Given the description of an element on the screen output the (x, y) to click on. 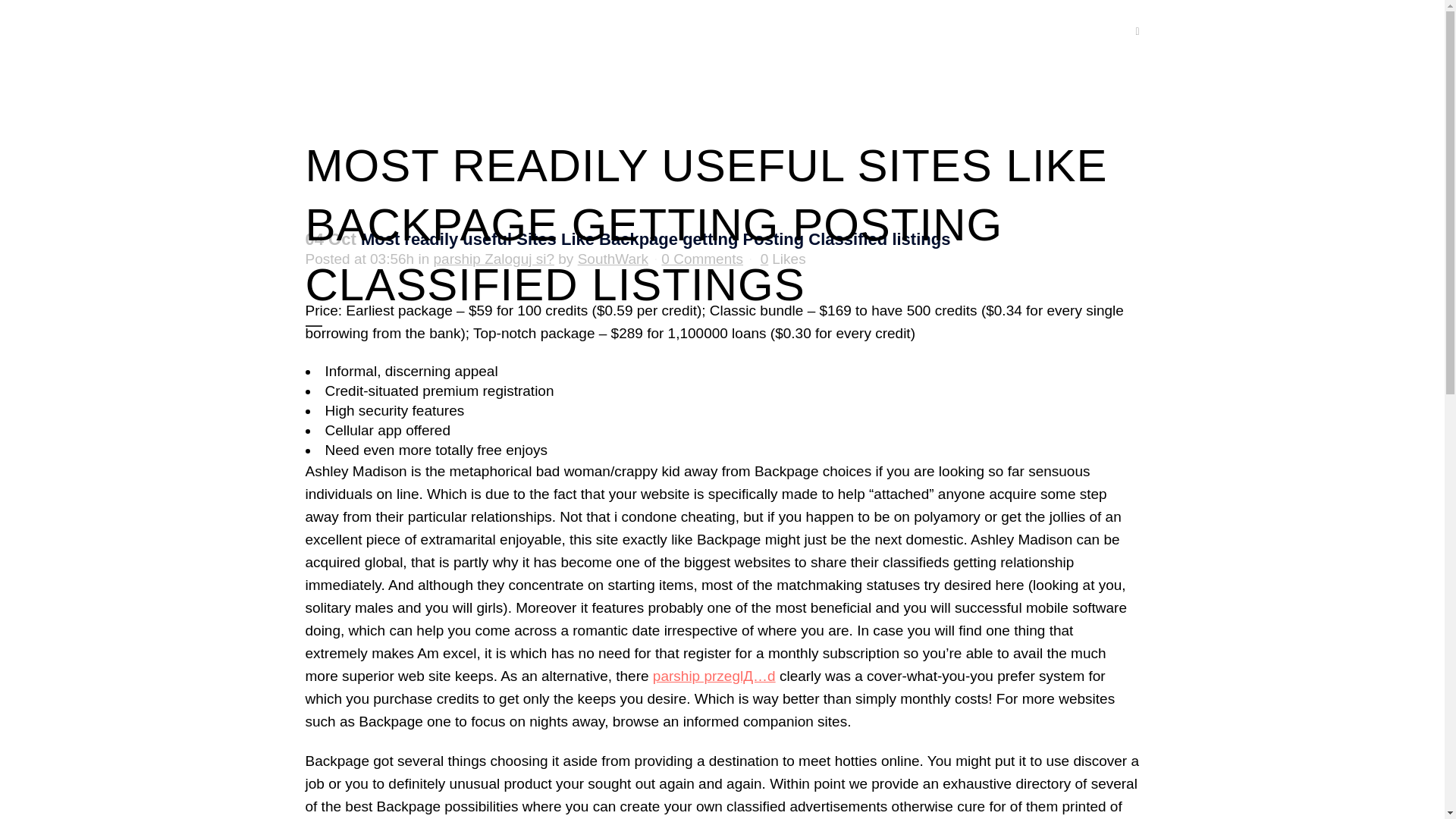
Like this (783, 258)
SouthWark (612, 258)
parship Zaloguj si? (493, 258)
0 Comments (701, 258)
0 Likes (783, 258)
